Given the description of an element on the screen output the (x, y) to click on. 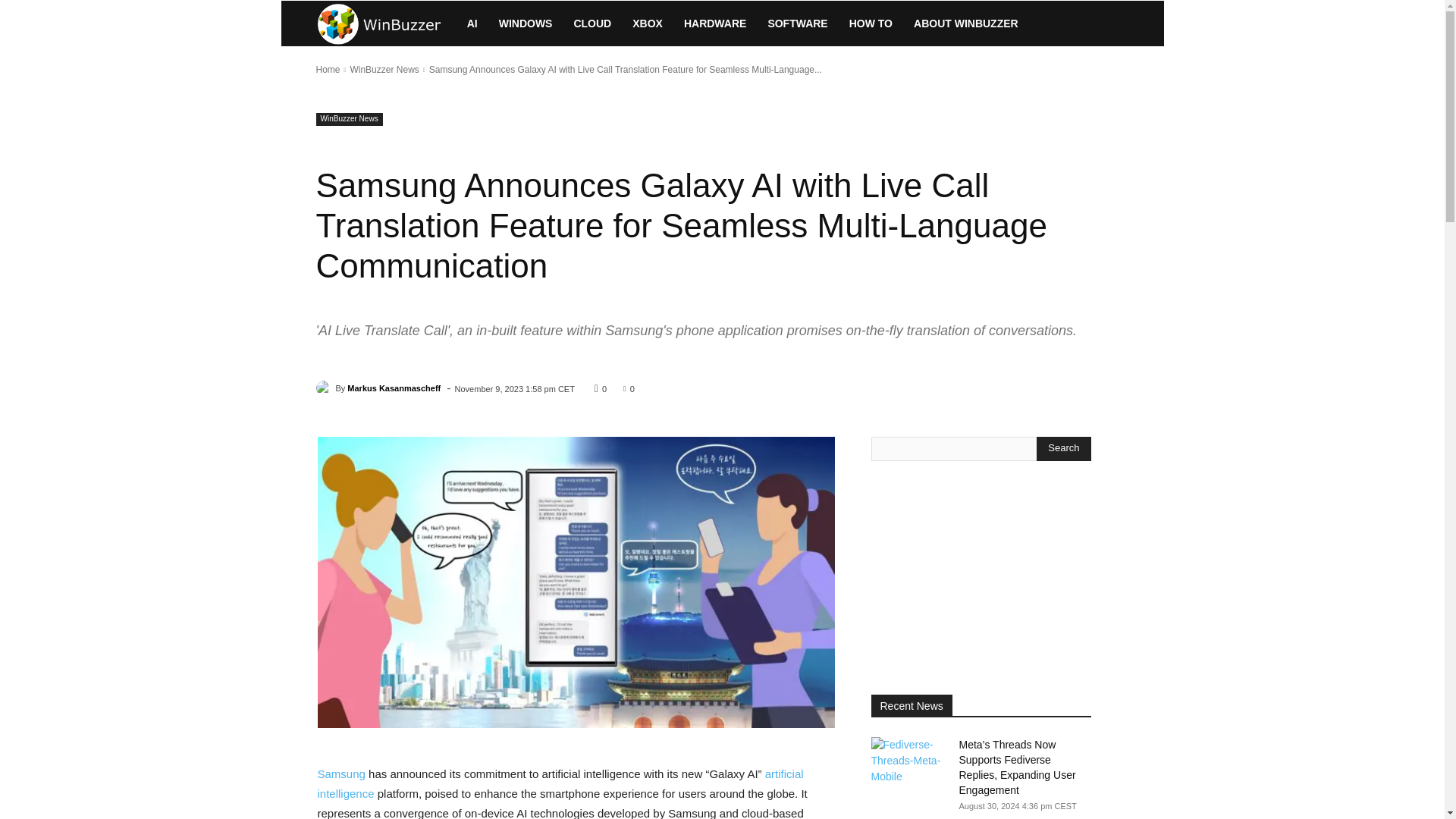
View all posts in WinBuzzer News (384, 69)
Markus Kasanmascheff (324, 387)
Search (1063, 448)
Posts tagged with Samsung (341, 773)
